Given the description of an element on the screen output the (x, y) to click on. 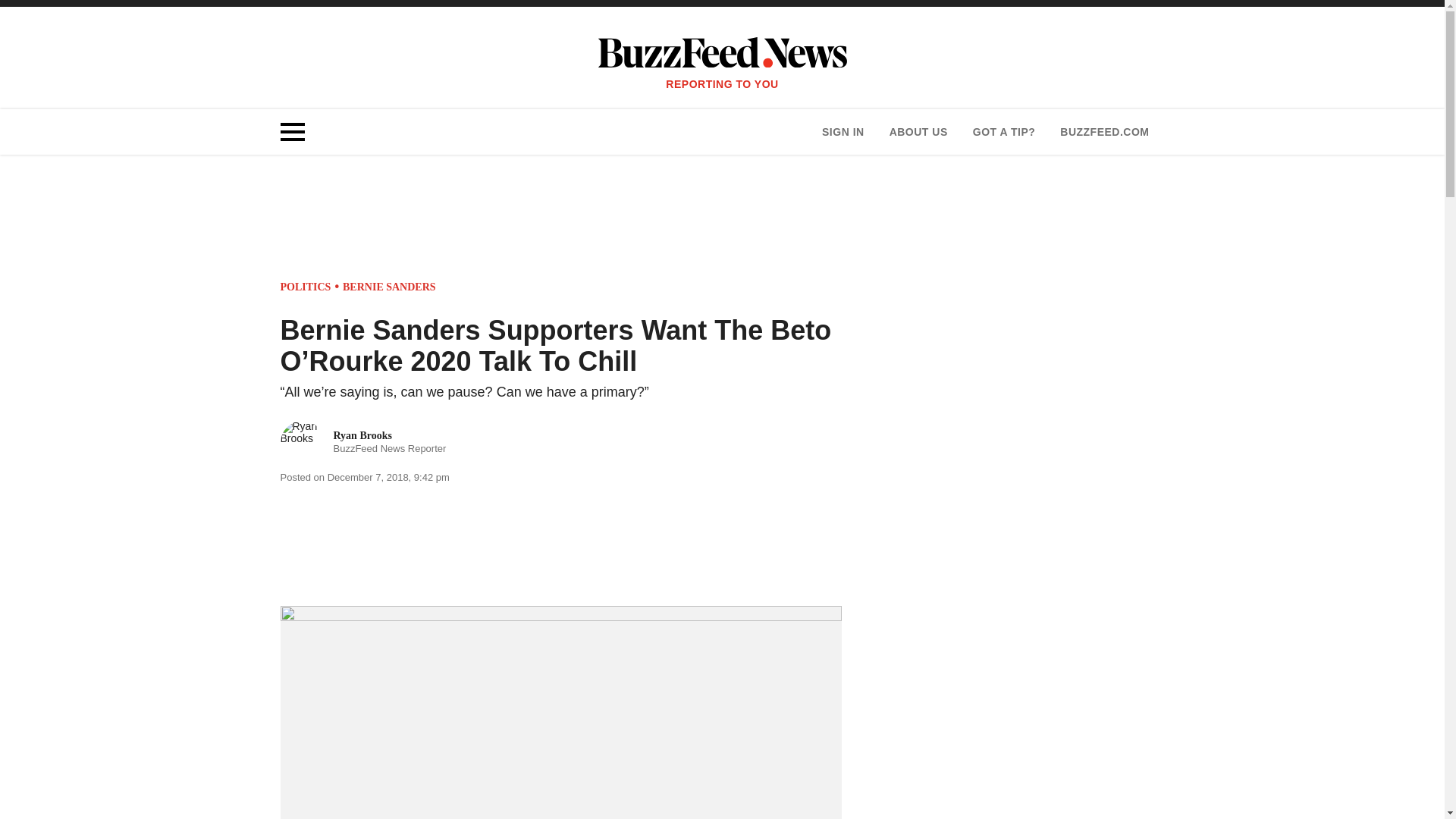
SIGN IN (842, 131)
BUZZFEED.COM (1103, 131)
GOT A TIP? (1003, 131)
ABOUT US (917, 131)
POLITICS (306, 286)
BERNIE SANDERS (363, 442)
